Given the description of an element on the screen output the (x, y) to click on. 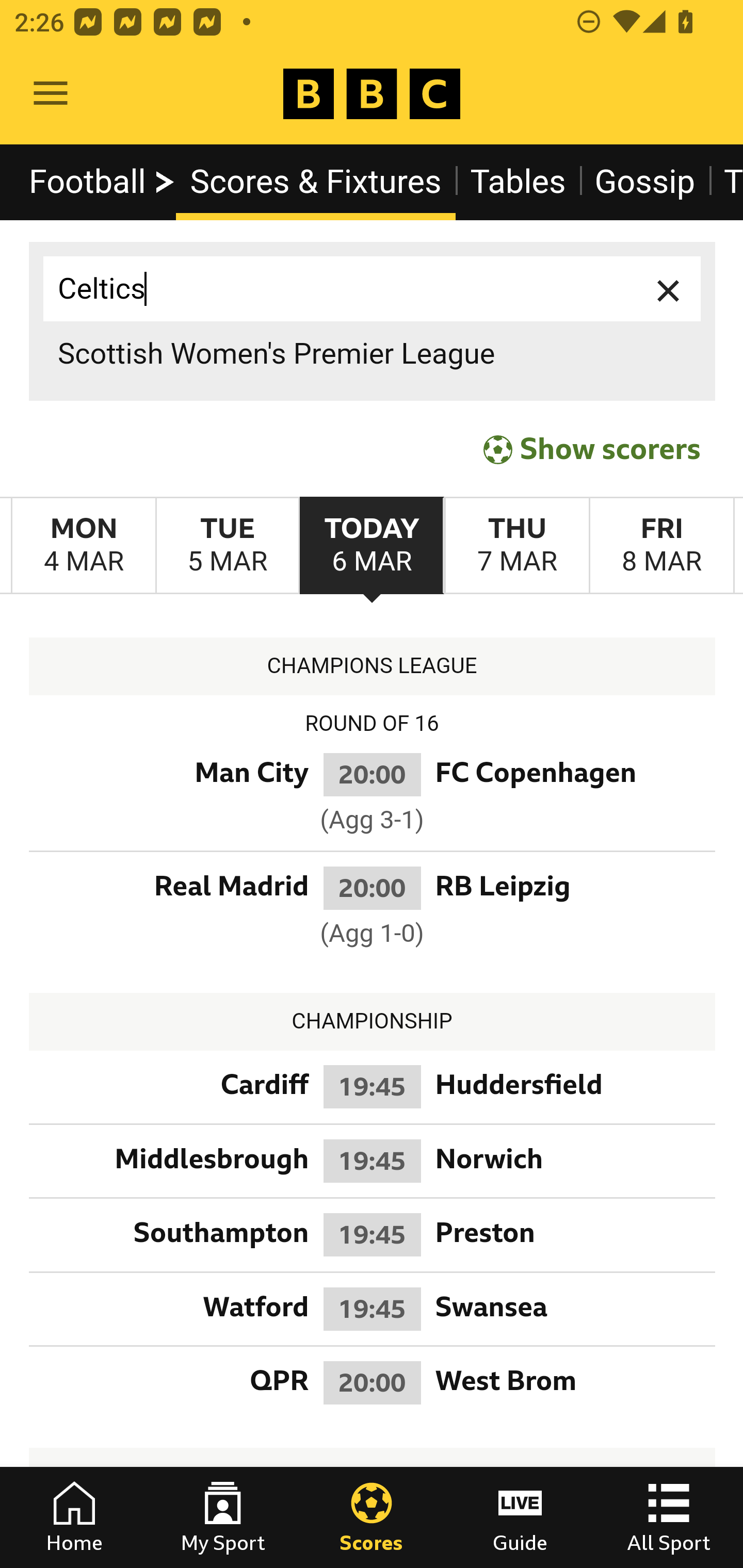
Open Menu (50, 93)
Football  (102, 181)
Scores & Fixtures (315, 181)
Tables (517, 181)
Gossip (645, 181)
Celtics (372, 289)
Clear input (669, 289)
Scottish Women's Premier League (372, 353)
Scottish Women's Premier League (372, 353)
Show scorers (591, 449)
MondayMarch 4th Monday March 4th (83, 546)
TuesdayMarch 5th Tuesday March 5th (227, 546)
ThursdayMarch 7th Thursday March 7th (516, 546)
FridayMarch 8th Friday March 8th (661, 546)
Home (74, 1517)
My Sport (222, 1517)
Guide (519, 1517)
All Sport (668, 1517)
